Given the description of an element on the screen output the (x, y) to click on. 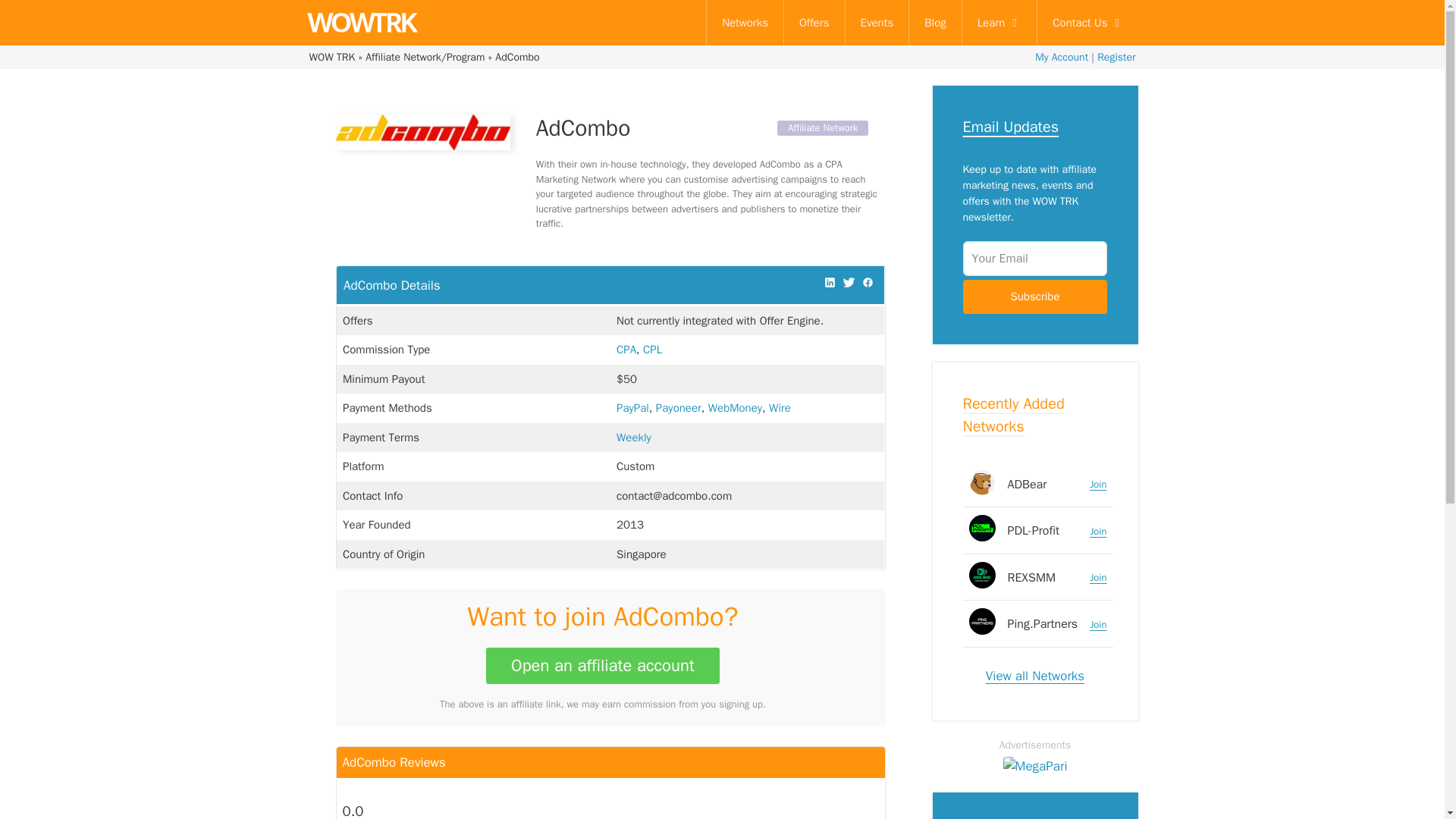
WOW TRK (331, 56)
CPA (625, 349)
Join (1097, 483)
Learn (999, 22)
ADBear (1026, 484)
WebMoney (734, 407)
Subscribe (1034, 296)
CPL (652, 349)
icon-REXSMM (982, 574)
adbear (982, 481)
WOW TRK (361, 22)
Register (1116, 56)
Events (876, 22)
Wire (779, 407)
Offers (814, 22)
